Given the description of an element on the screen output the (x, y) to click on. 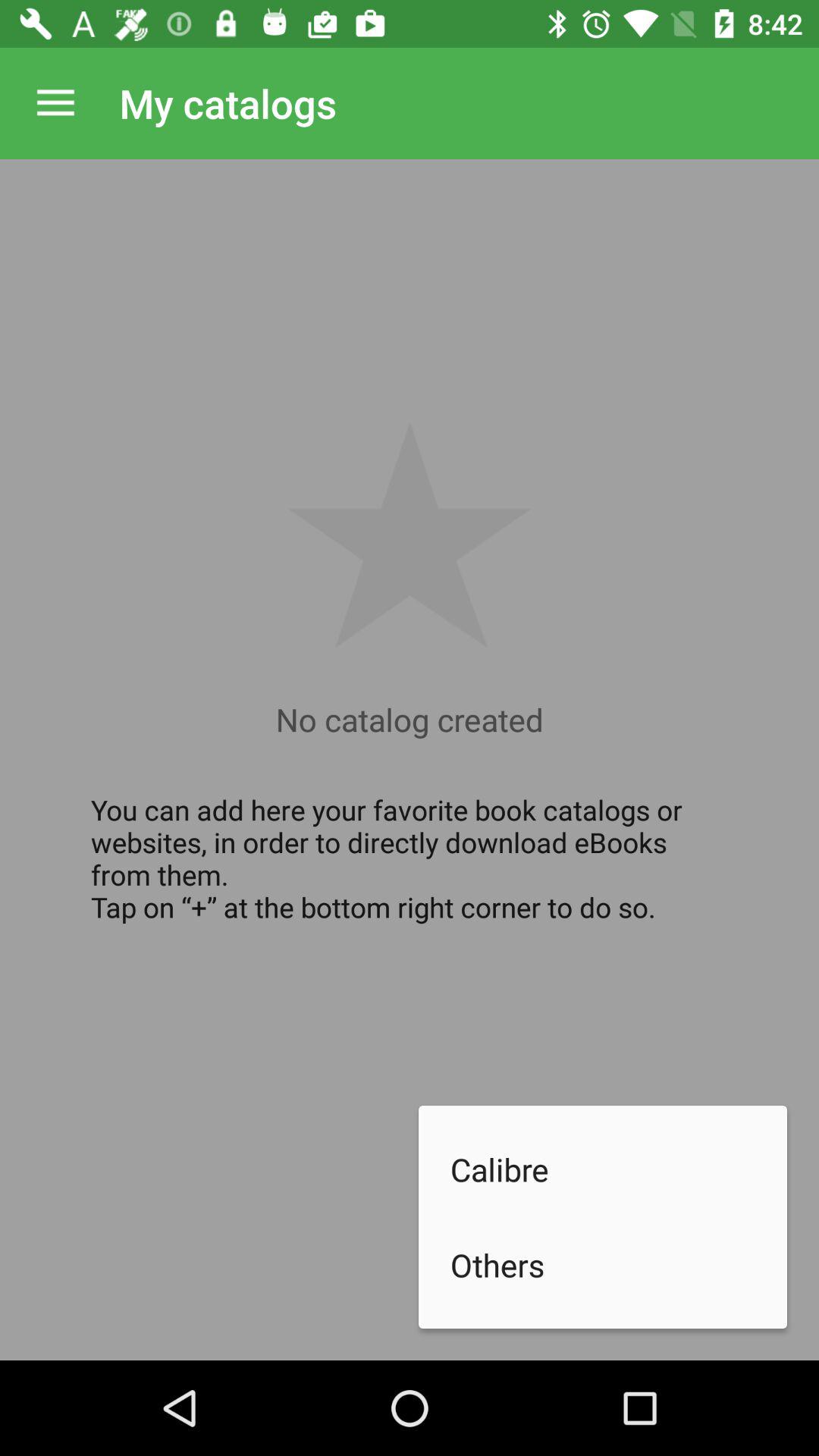
tap the icon below calibre item (618, 1264)
